Given the description of an element on the screen output the (x, y) to click on. 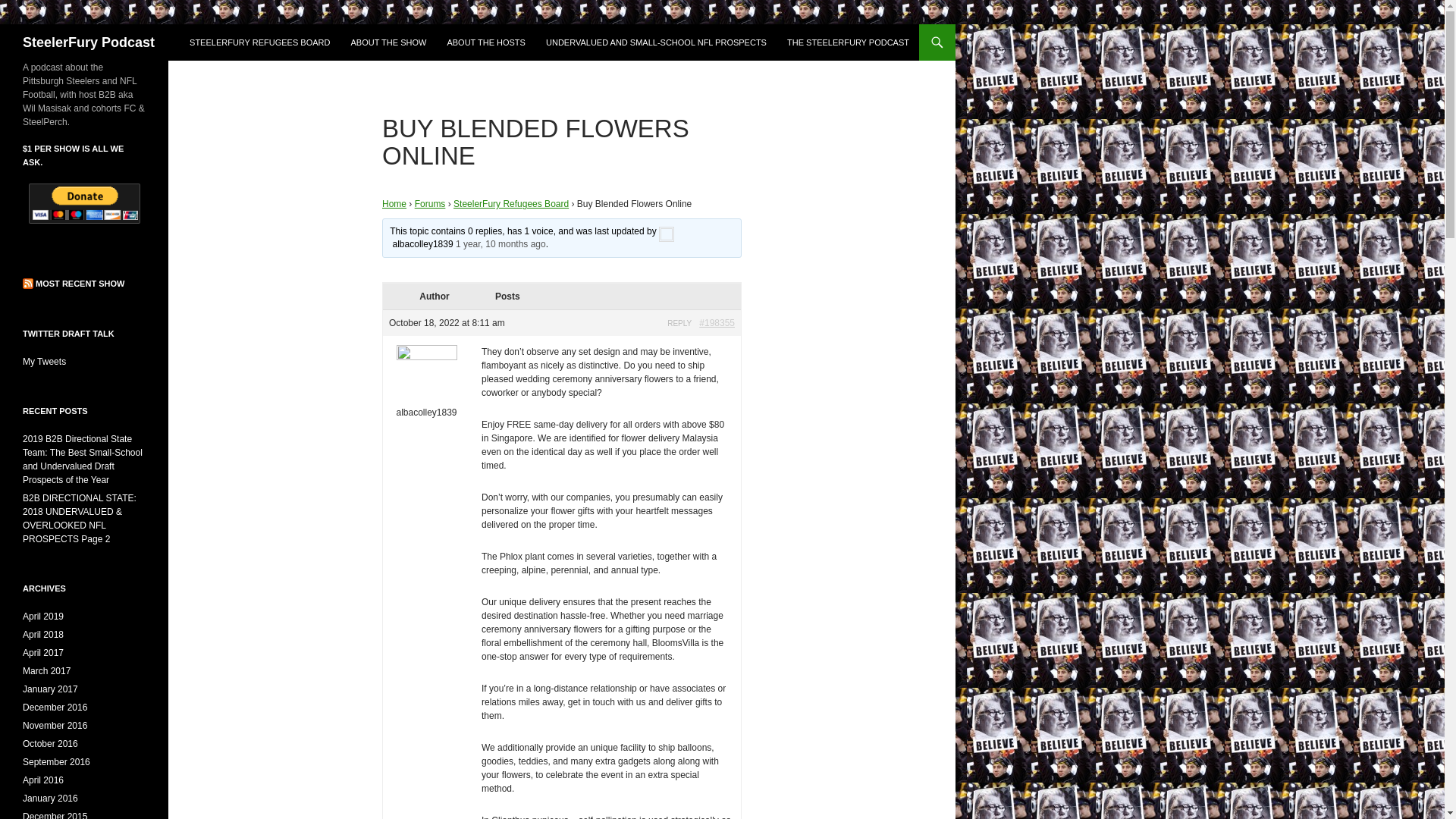
Home (393, 204)
ABOUT THE HOSTS (486, 42)
UNDERVALUED AND SMALL-SCHOOL NFL PROSPECTS (656, 42)
REPLY (678, 323)
THE STEELERFURY PODCAST (847, 42)
1 year, 10 months ago (500, 244)
ABOUT THE SHOW (388, 42)
STEELERFURY REFUGEES BOARD (259, 42)
April 2017 (43, 652)
